Given the description of an element on the screen output the (x, y) to click on. 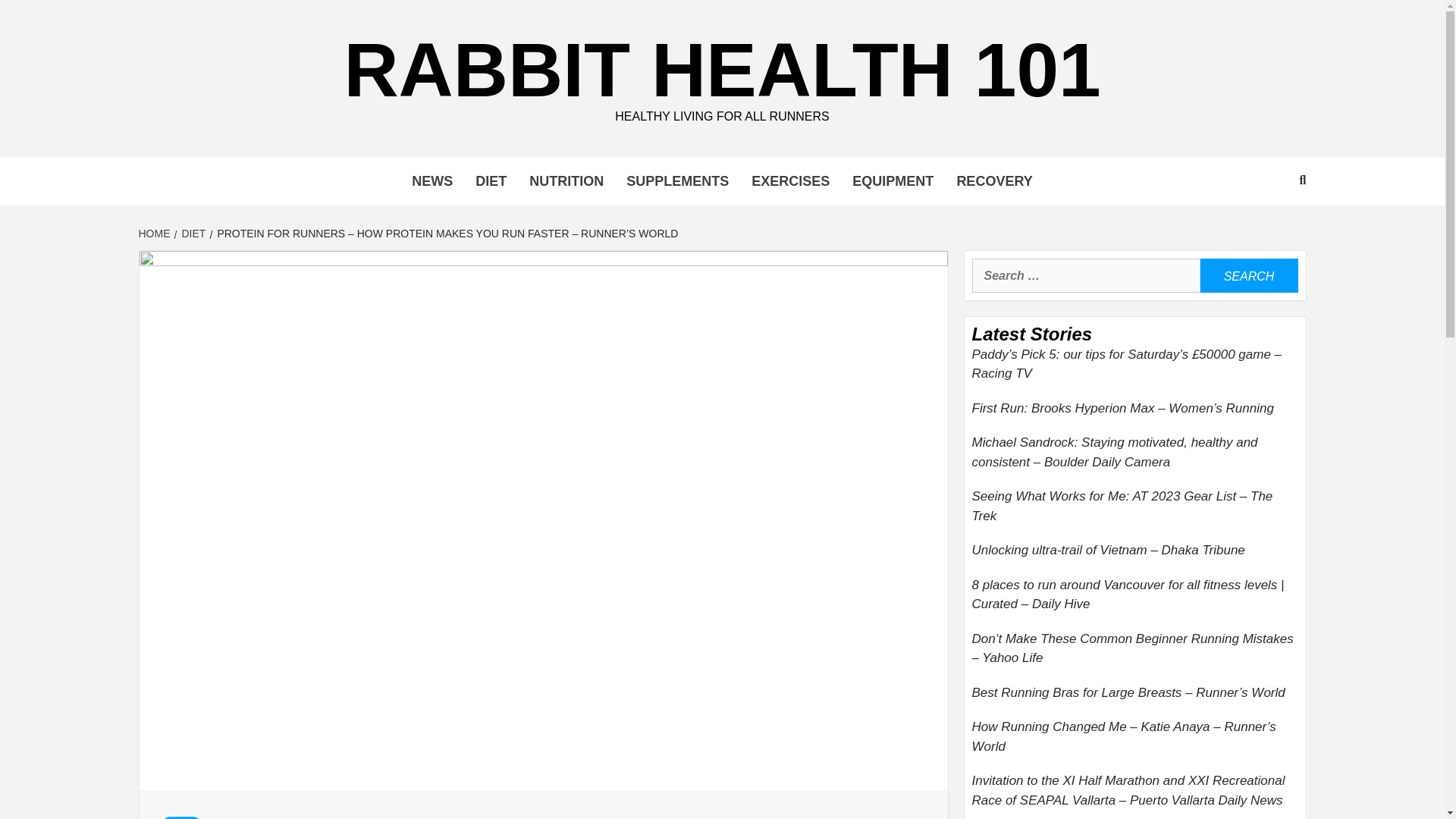
NUTRITION (566, 181)
RABBIT HEALTH 101 (721, 69)
DIET (491, 181)
RECOVERY (993, 181)
HOME (155, 233)
NEWS (432, 181)
Search (1248, 275)
DIET (180, 817)
DIET (191, 233)
EQUIPMENT (892, 181)
SUPPLEMENTS (676, 181)
Search (1248, 275)
Search (1248, 275)
EXERCISES (790, 181)
